Given the description of an element on the screen output the (x, y) to click on. 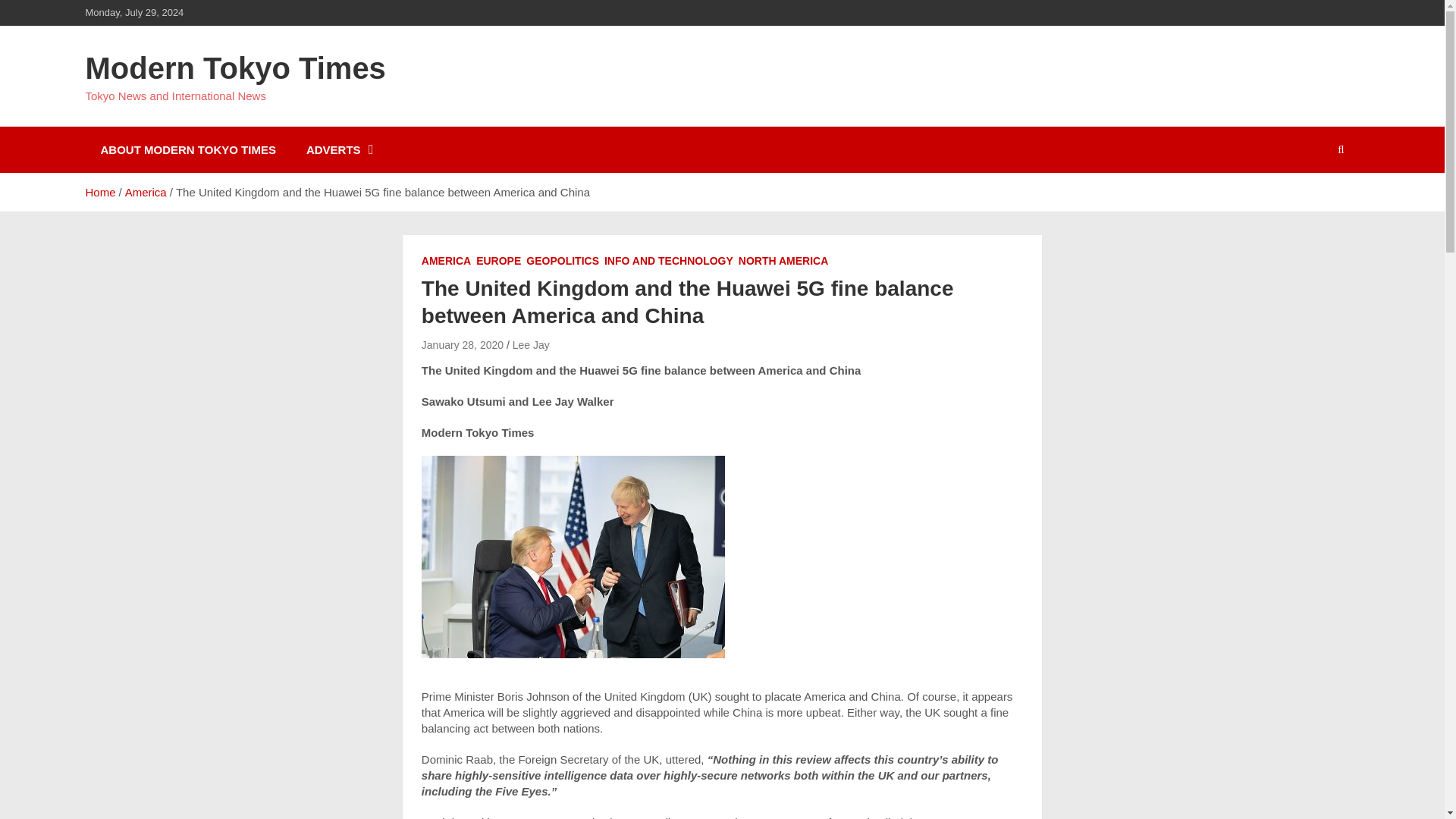
EUROPE (498, 261)
GEOPOLITICS (561, 261)
NORTH AMERICA (783, 261)
Home (99, 192)
America (146, 192)
Lee Jay (531, 345)
ADVERTS (338, 149)
January 28, 2020 (462, 345)
ABOUT MODERN TOKYO TIMES (186, 149)
Modern Tokyo Times (234, 68)
INFO AND TECHNOLOGY (668, 261)
AMERICA (446, 261)
